Given the description of an element on the screen output the (x, y) to click on. 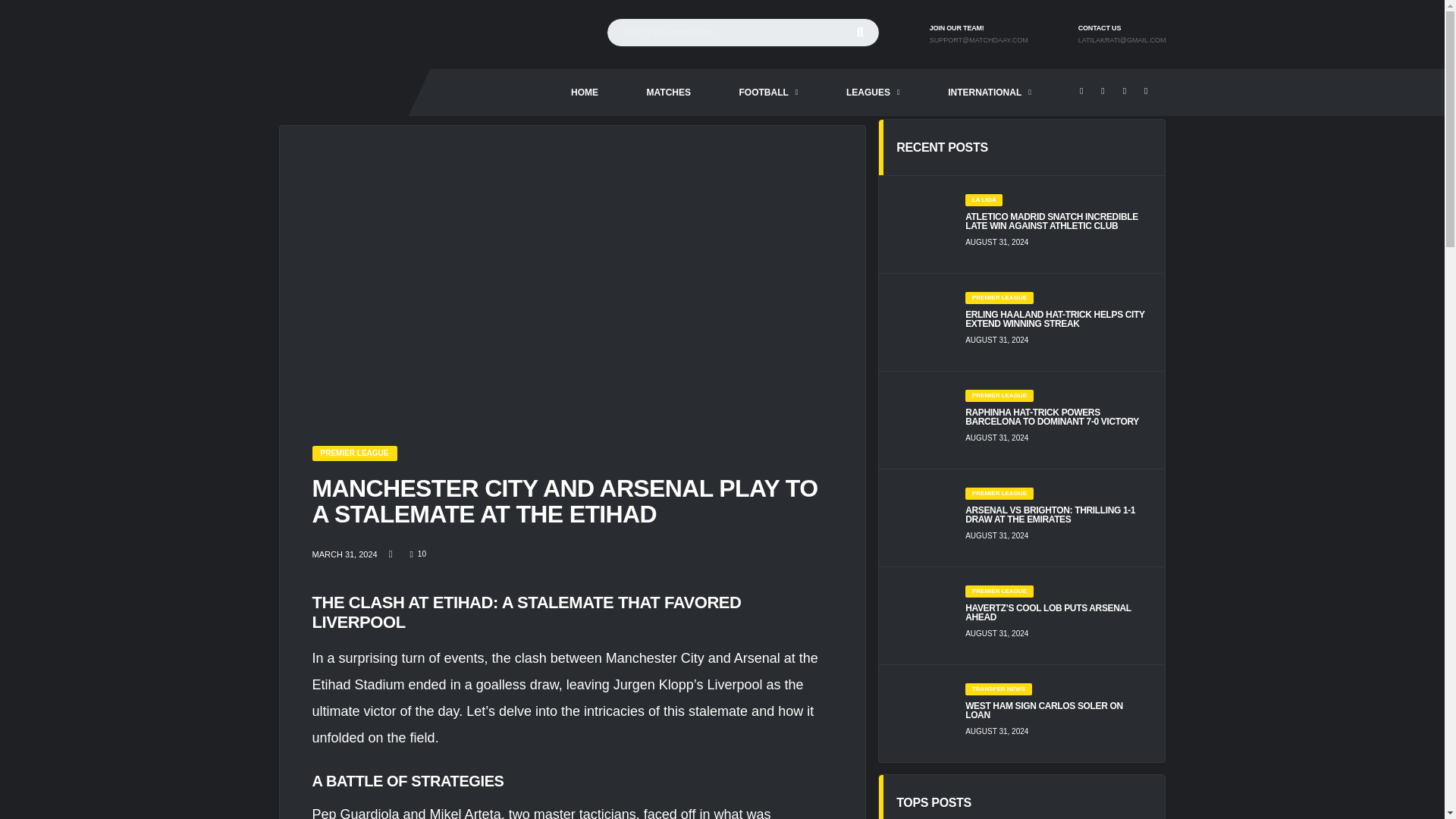
Erling Haaland Hat-Trick Helps City Extend Winning Streak (1056, 319)
Like (417, 553)
INTERNATIONAL (989, 92)
LEAGUES (873, 92)
Raphinha Hat-Trick Powers Barcelona to Dominant 7-0 Victory (1056, 416)
FOOTBALL (768, 92)
10 (417, 553)
MATCHES (668, 92)
HOME (584, 92)
